Given the description of an element on the screen output the (x, y) to click on. 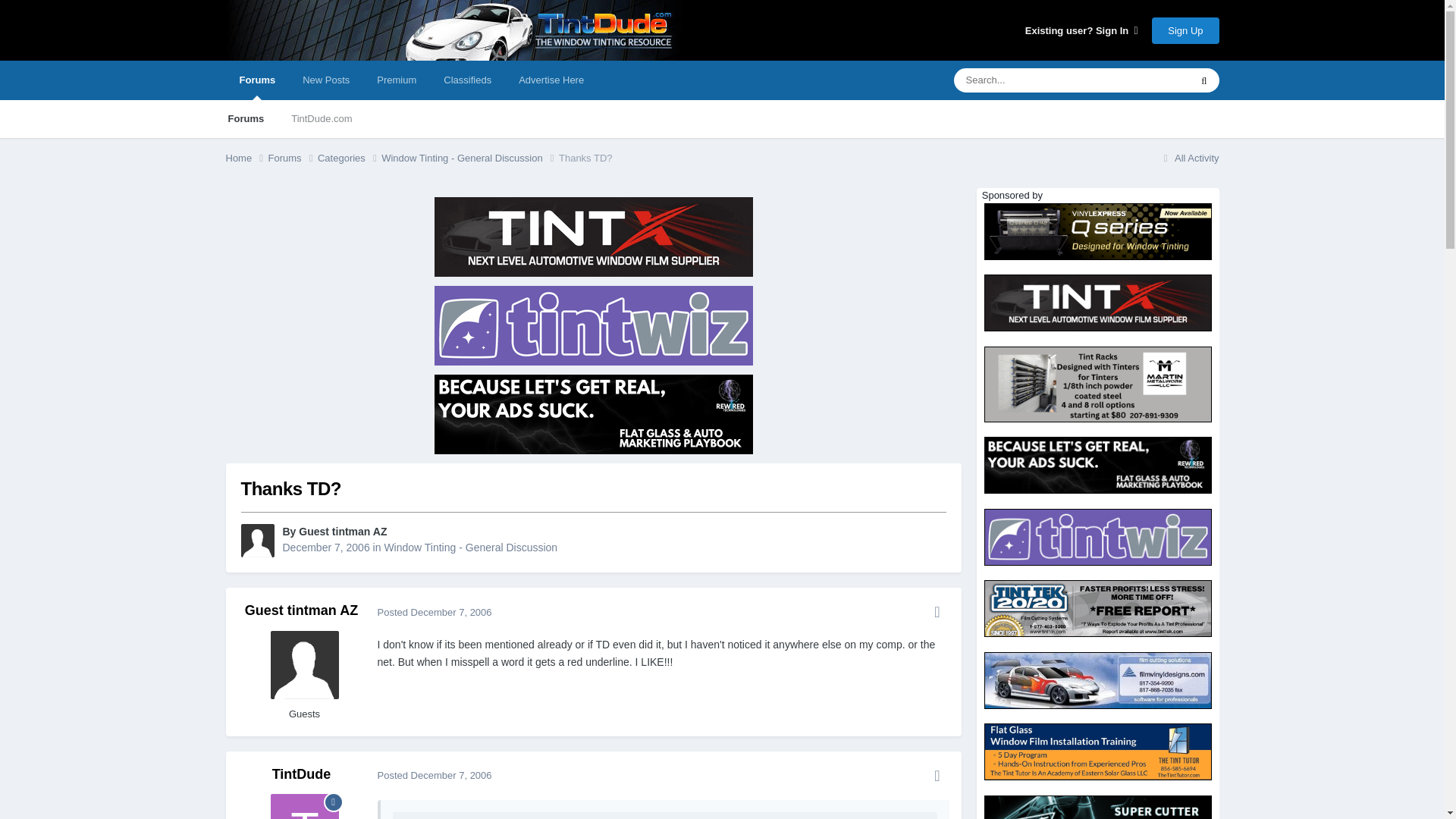
Forums (292, 158)
Advertise Here (550, 79)
Window Tinting - General Discussion (470, 158)
Sign Up (1184, 29)
More options... (936, 611)
Go to TintDude's profile (301, 774)
Home (246, 158)
Premium (395, 79)
Forums (257, 79)
Categories (349, 158)
All Activity (1188, 157)
Classifieds (467, 79)
Home (246, 158)
Forums (246, 118)
TintDude.com (321, 118)
